Given the description of an element on the screen output the (x, y) to click on. 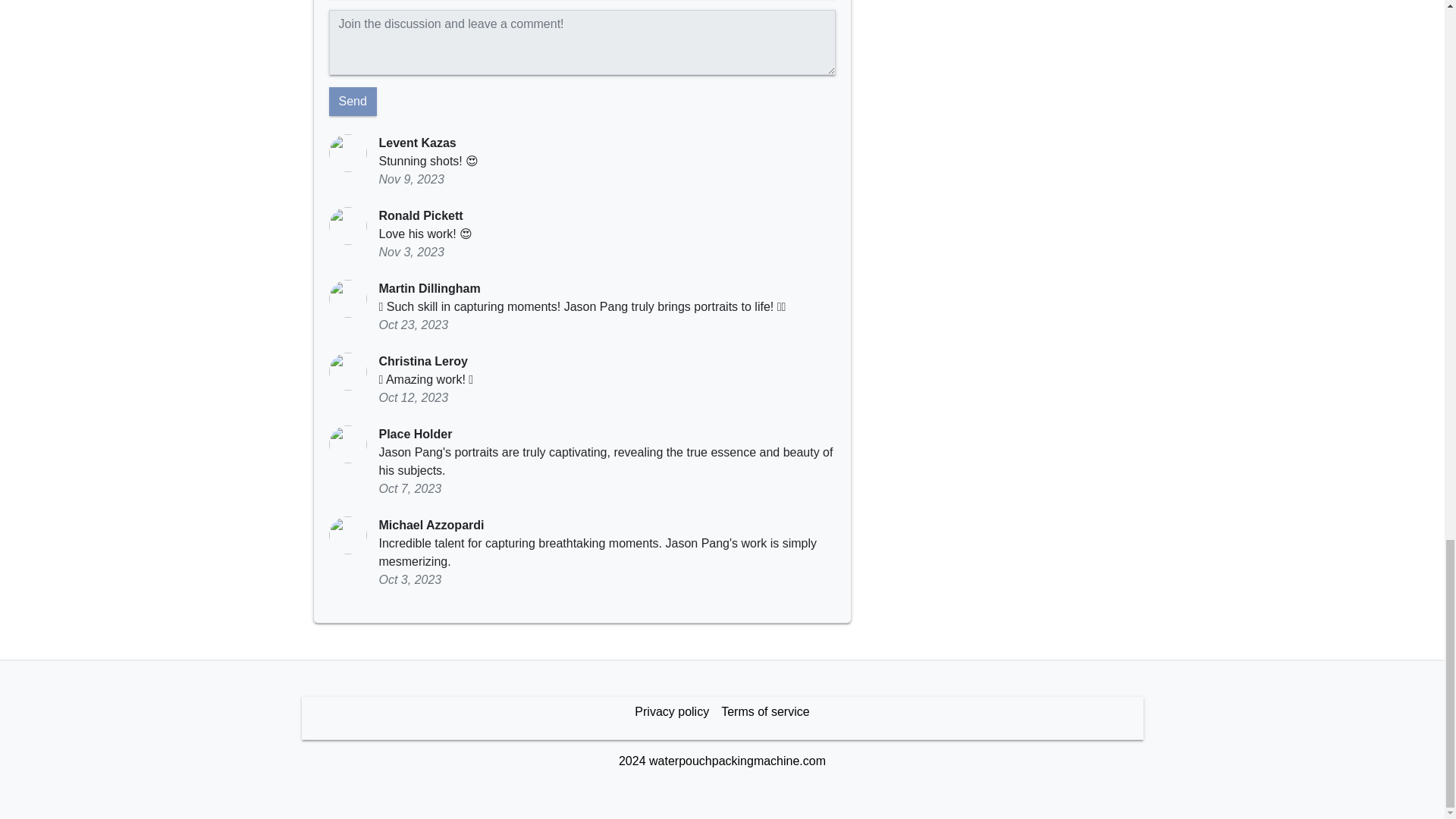
Terms of service (764, 711)
Privacy policy (671, 711)
Send (353, 100)
Send (353, 100)
